Given the description of an element on the screen output the (x, y) to click on. 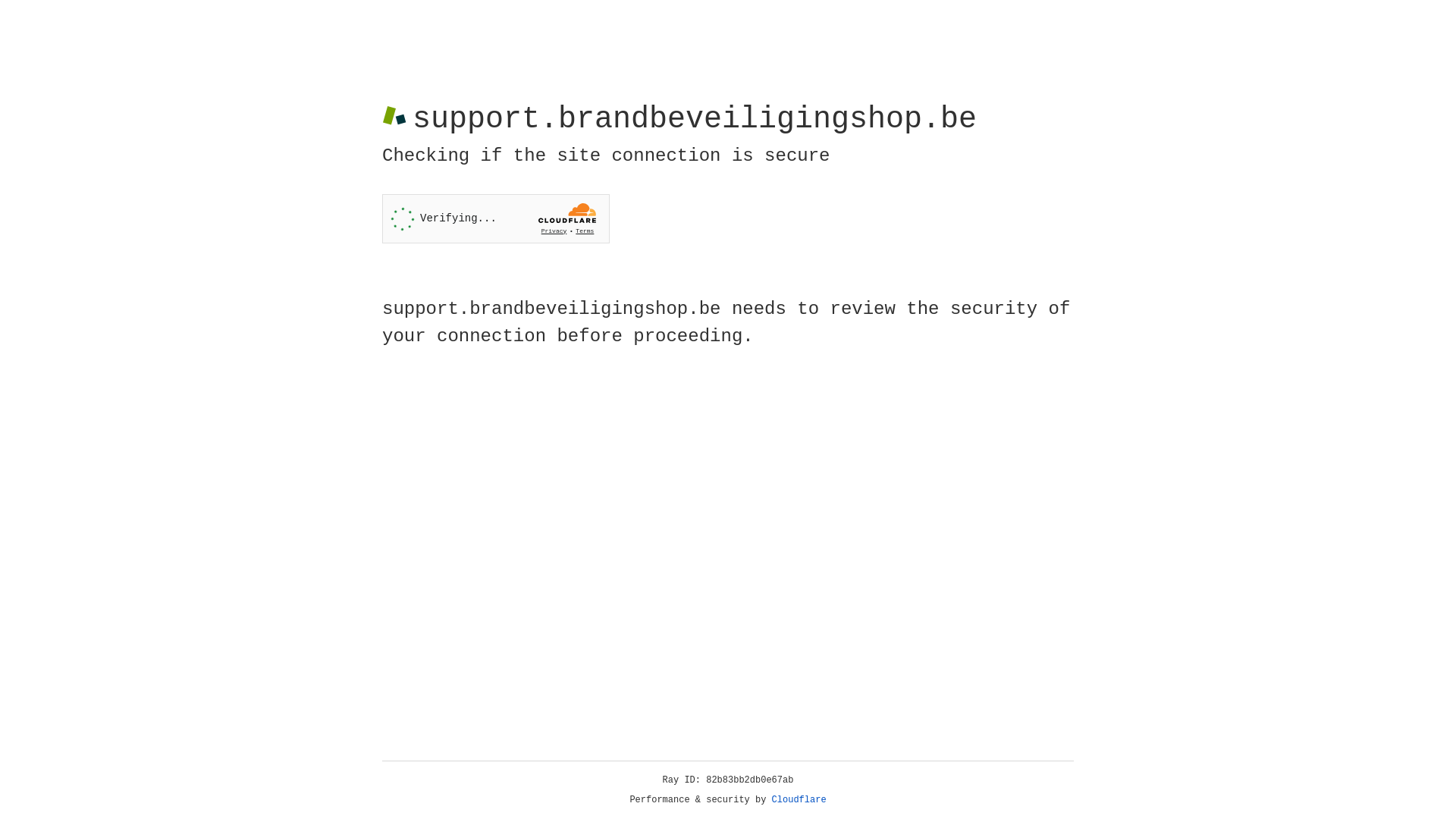
Widget containing a Cloudflare security challenge Element type: hover (495, 218)
Cloudflare Element type: text (798, 799)
